Given the description of an element on the screen output the (x, y) to click on. 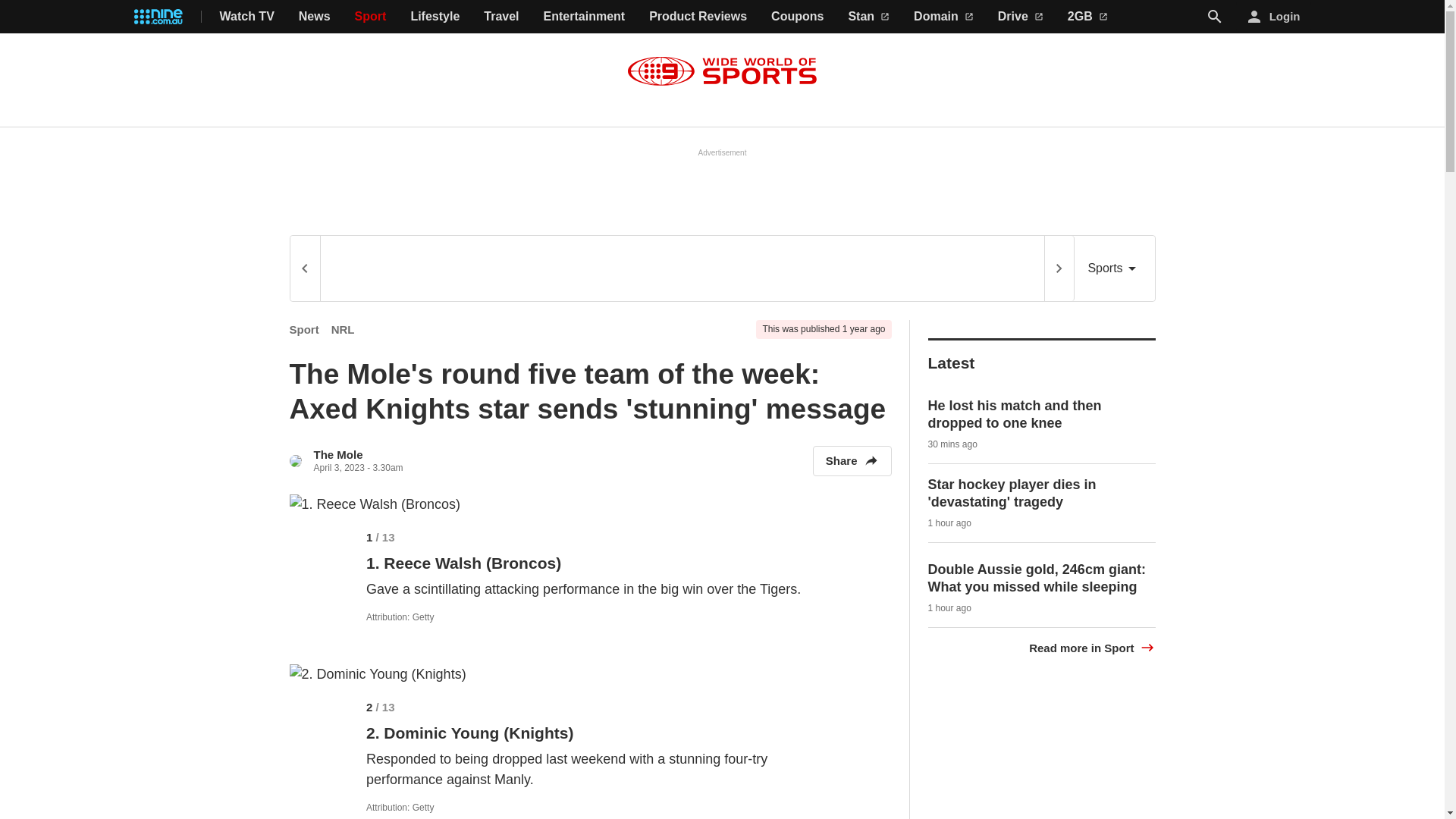
2GB (1087, 16)
Stan (868, 16)
Entertainment (584, 16)
Search (1214, 16)
Domain (944, 16)
Product Reviews (697, 16)
Sports (1114, 268)
Sport (371, 16)
Share (851, 460)
Sport (303, 328)
